Given the description of an element on the screen output the (x, y) to click on. 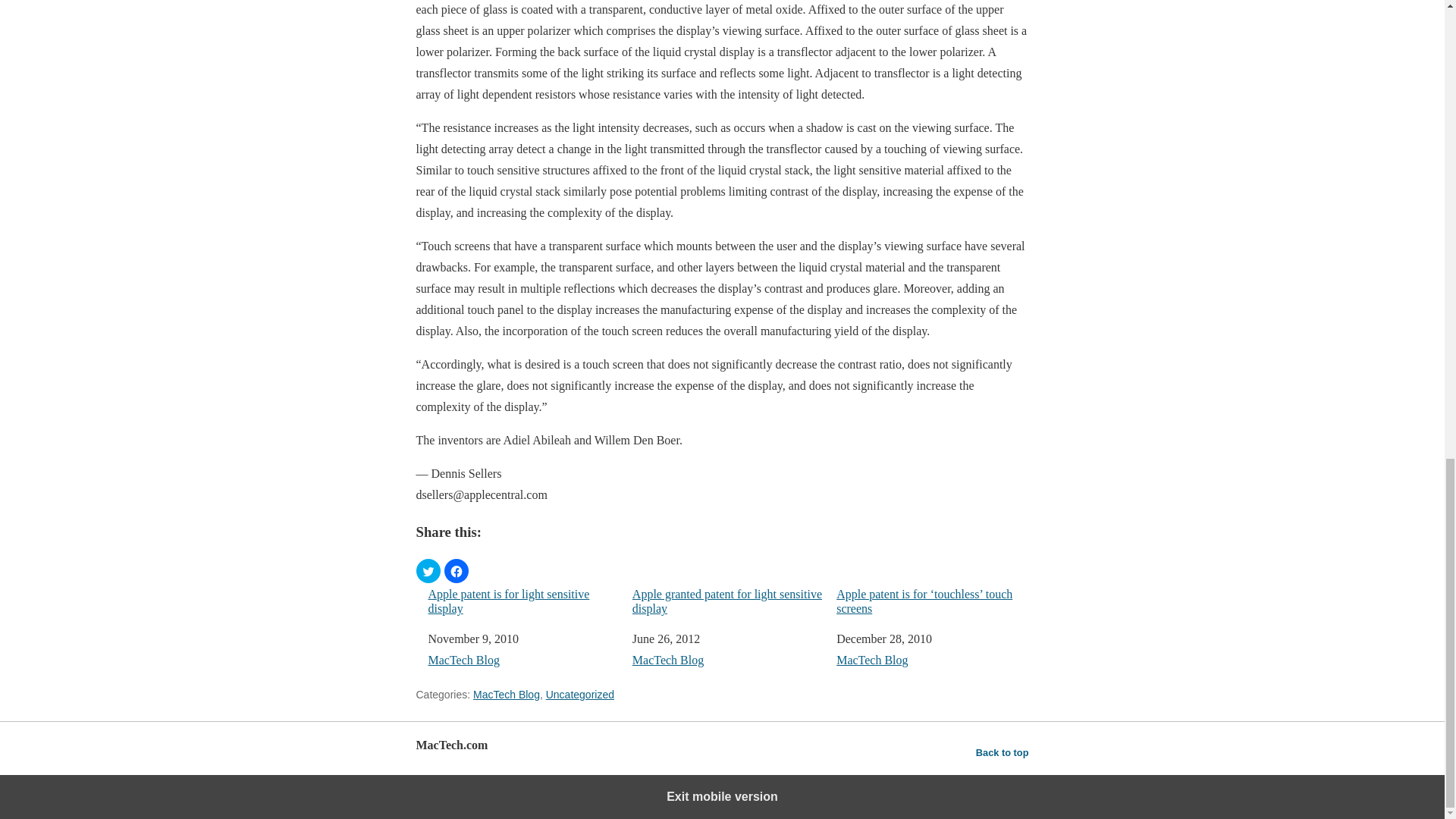
Apple patent is for light sensitive display (524, 601)
Back to top (1002, 752)
MacTech Blog (463, 659)
Apple granted patent for light sensitive display (727, 601)
MacTech Blog (667, 659)
MacTech Blog (506, 694)
MacTech Blog (871, 659)
Click to share on Twitter (426, 570)
Uncategorized (580, 694)
Click to share on Facebook (456, 570)
